Given the description of an element on the screen output the (x, y) to click on. 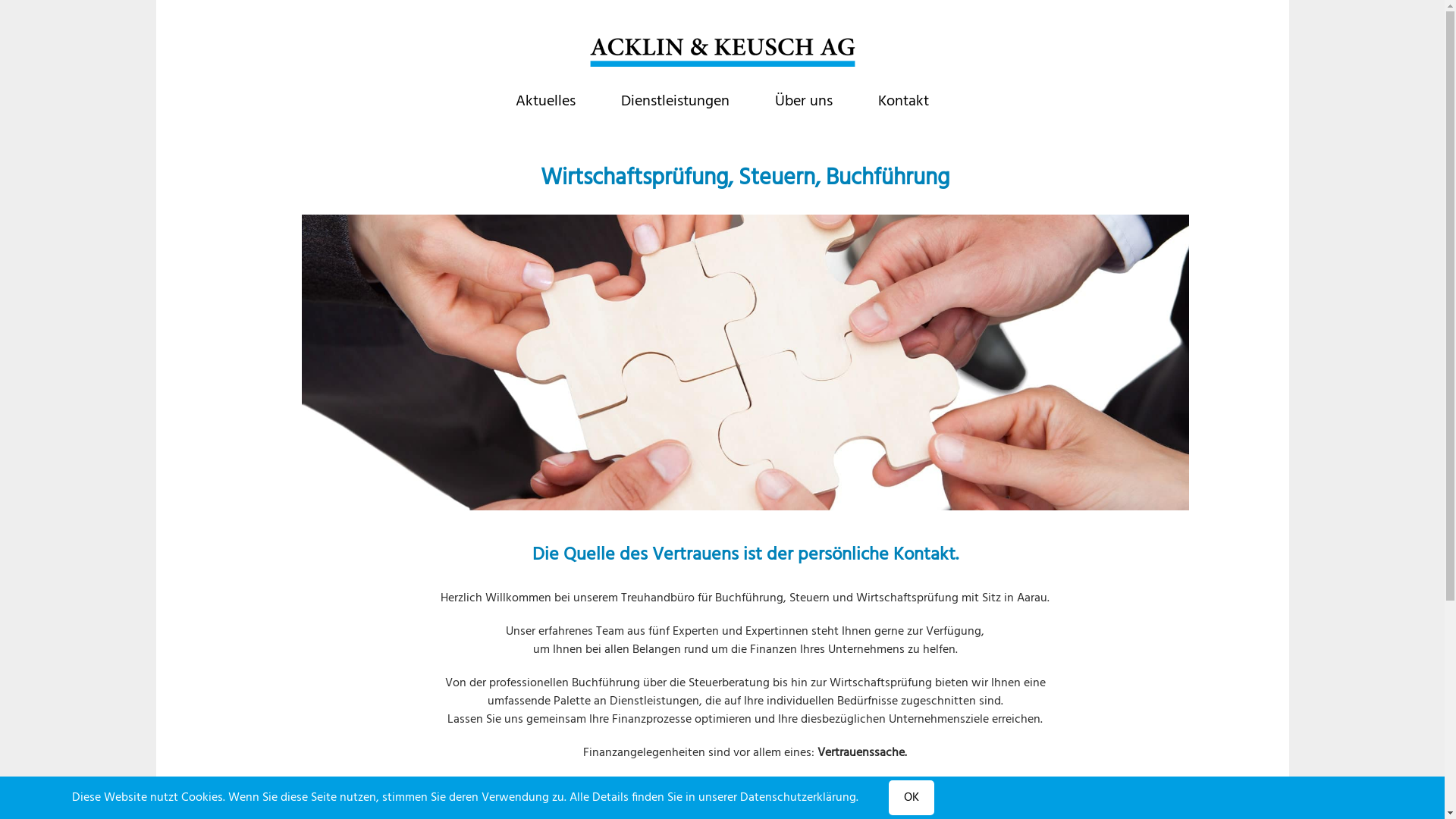
Aktuelles Element type: text (545, 100)
Dienstleistungen Element type: text (675, 100)
OK Element type: text (911, 797)
Kontakt Element type: text (903, 100)
